Given the description of an element on the screen output the (x, y) to click on. 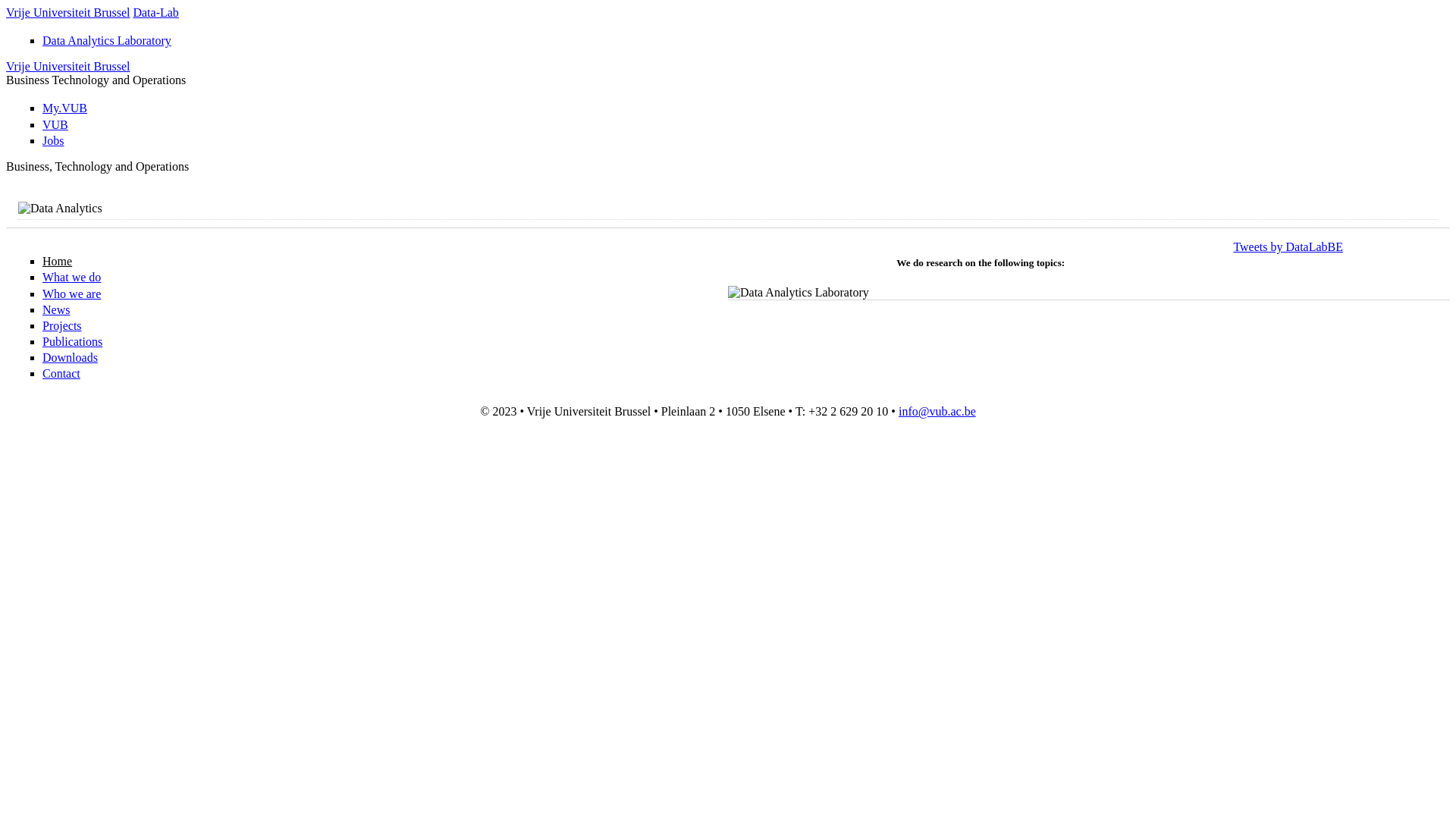
What we do Element type: text (71, 276)
Data Analytics Laboratory Element type: text (106, 40)
Jobs Element type: text (52, 140)
Publications Element type: text (72, 341)
News Element type: text (55, 309)
Data-Lab Element type: text (155, 12)
VUB Element type: text (55, 124)
Projects Element type: text (61, 325)
Contact Element type: text (61, 373)
Vrije Universiteit Brussel Element type: text (67, 65)
Vrije Universiteit Brussel Element type: text (67, 12)
info@vub.ac.be Element type: text (936, 410)
My.VUB Element type: text (64, 107)
Tweets by DataLabBE Element type: text (1288, 246)
Who we are Element type: text (71, 293)
Home Element type: text (57, 260)
Downloads Element type: text (69, 357)
